Given the description of an element on the screen output the (x, y) to click on. 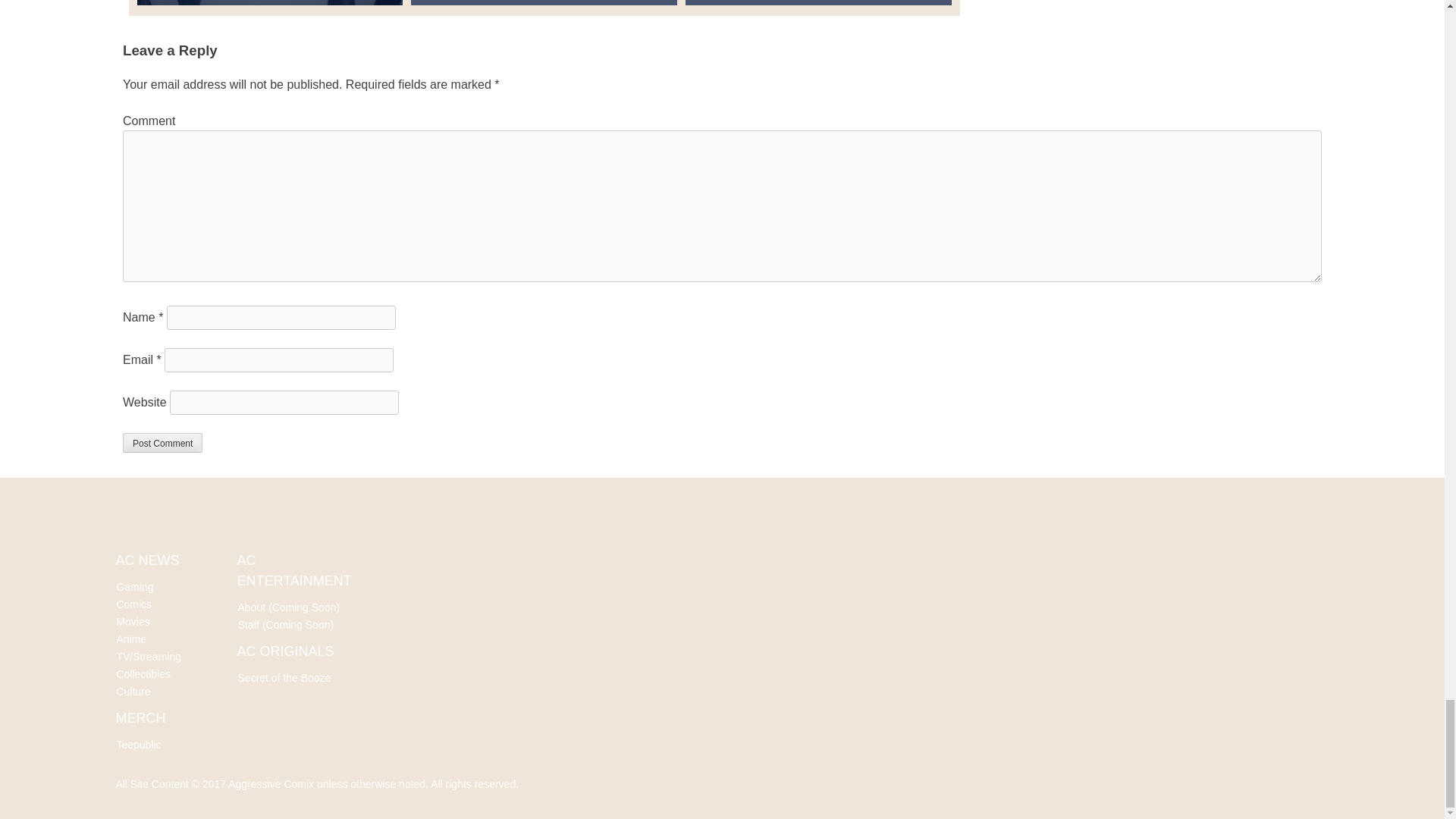
Post Comment (162, 442)
